Given the description of an element on the screen output the (x, y) to click on. 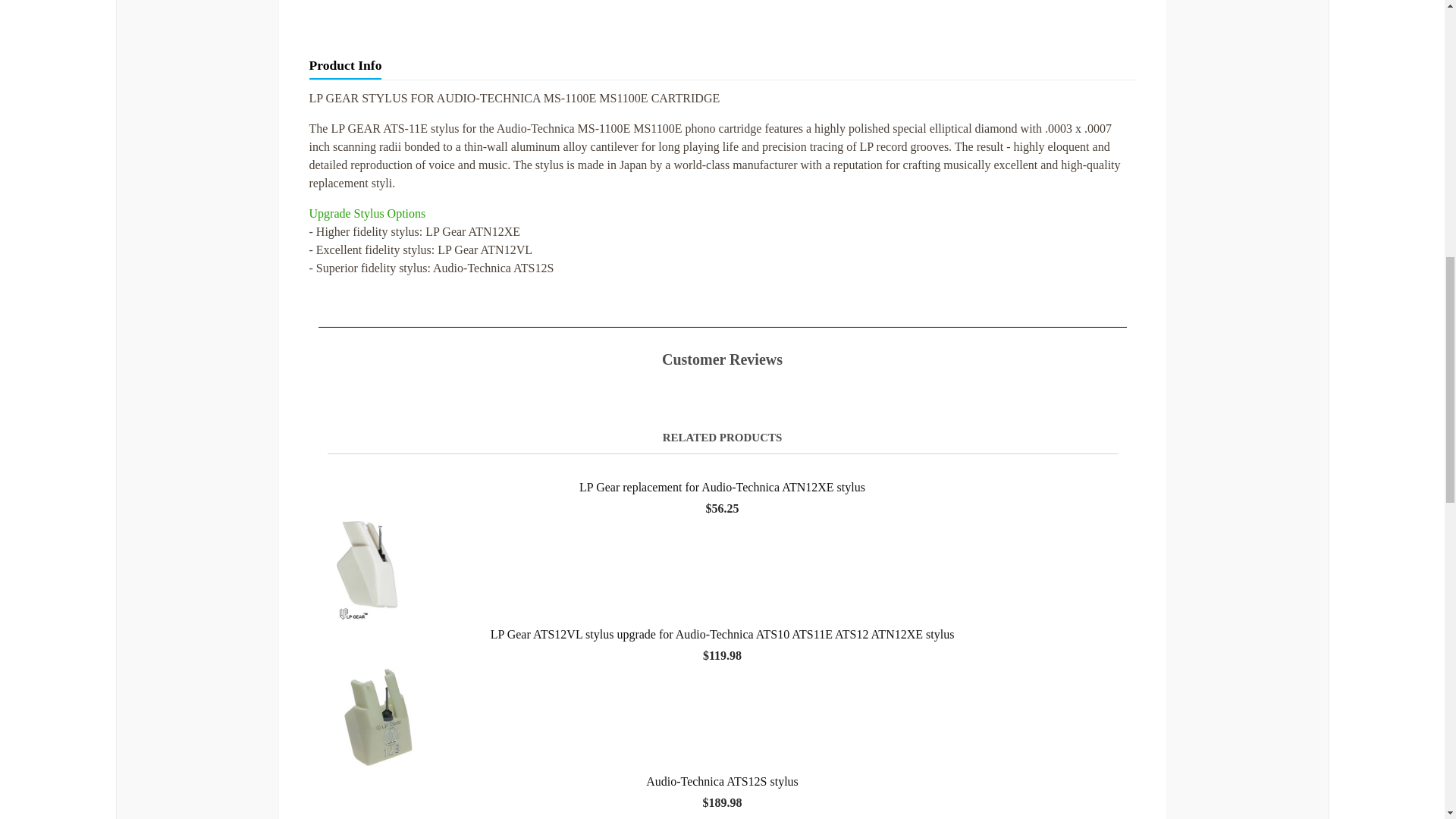
Audio-Technica ATS12S stylus (722, 740)
LP Gear replacement for Audio-Technica ATN12XE stylus (722, 466)
